Given the description of an element on the screen output the (x, y) to click on. 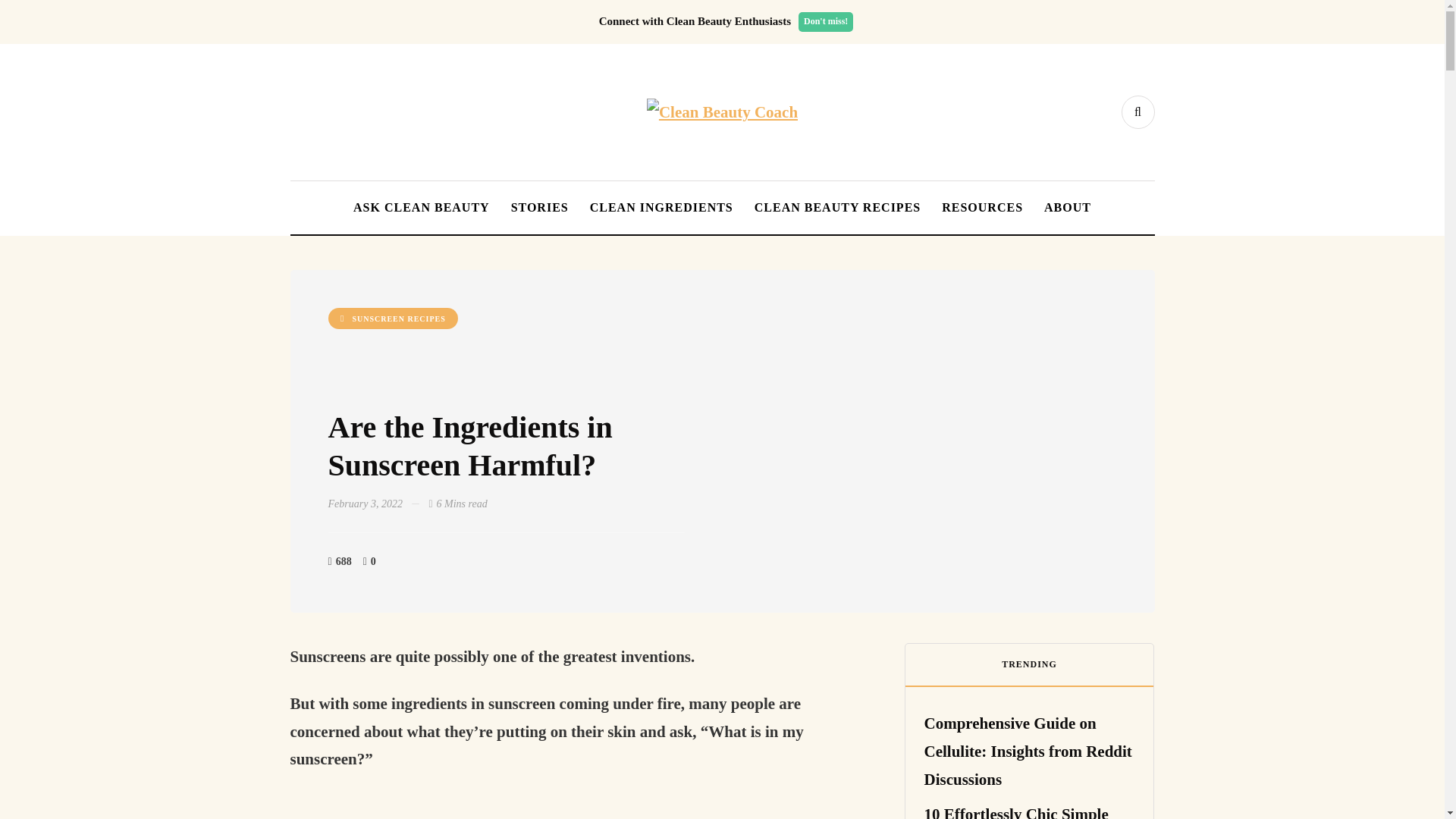
CLEAN INGREDIENTS (661, 207)
Connect with Clean Beauty EnthusiastsDon't miss! (729, 21)
SUNSCREEN RECIPES (392, 318)
STORIES (539, 207)
10 Effortlessly Chic Simple Outfit Ideas for Every Occasion (1015, 812)
RESOURCES (982, 207)
ABOUT (1067, 207)
ASK CLEAN BEAUTY (421, 207)
CLEAN BEAUTY RECIPES (837, 207)
